Given the description of an element on the screen output the (x, y) to click on. 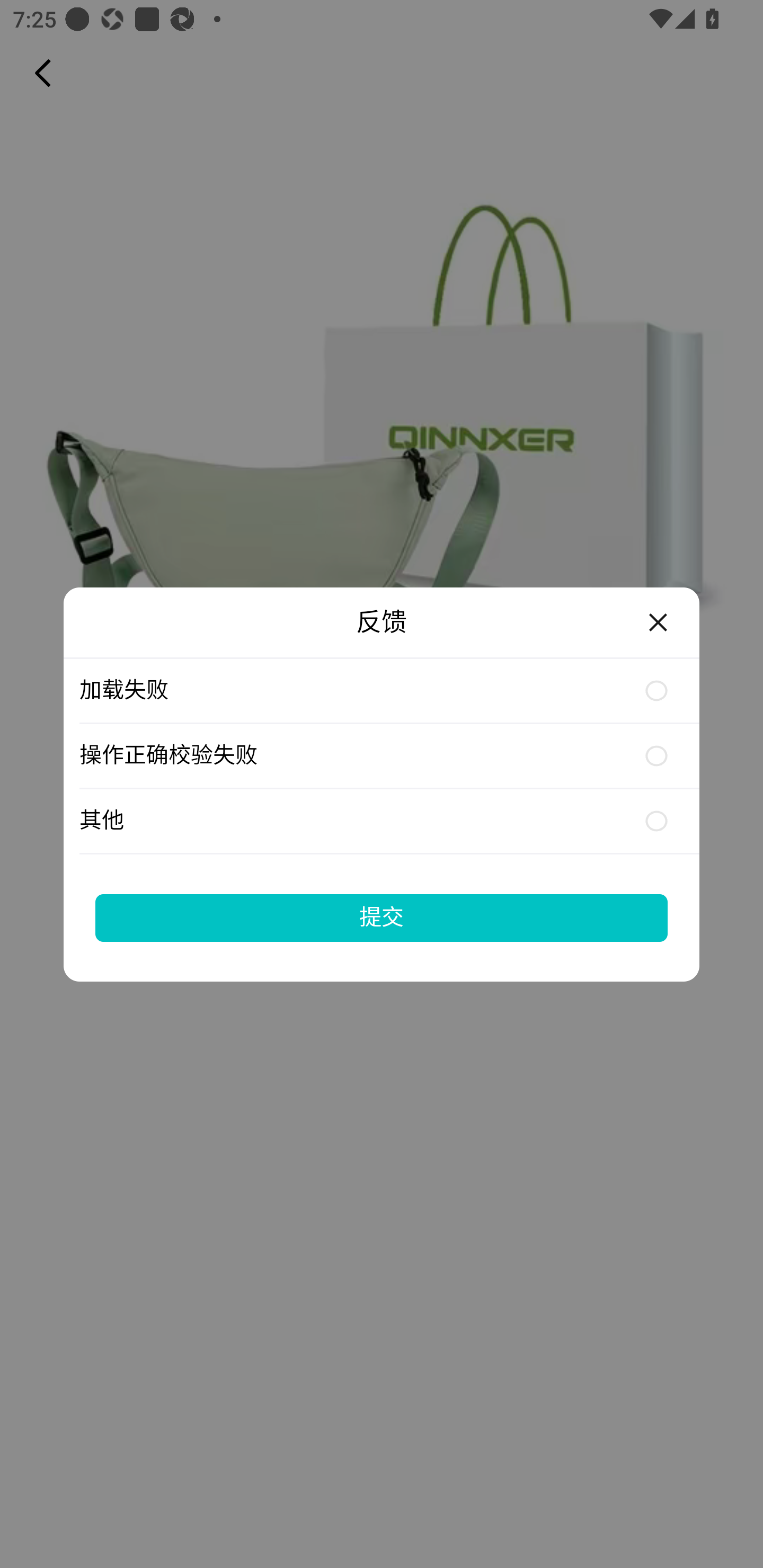
提交 (381, 917)
